Given the description of an element on the screen output the (x, y) to click on. 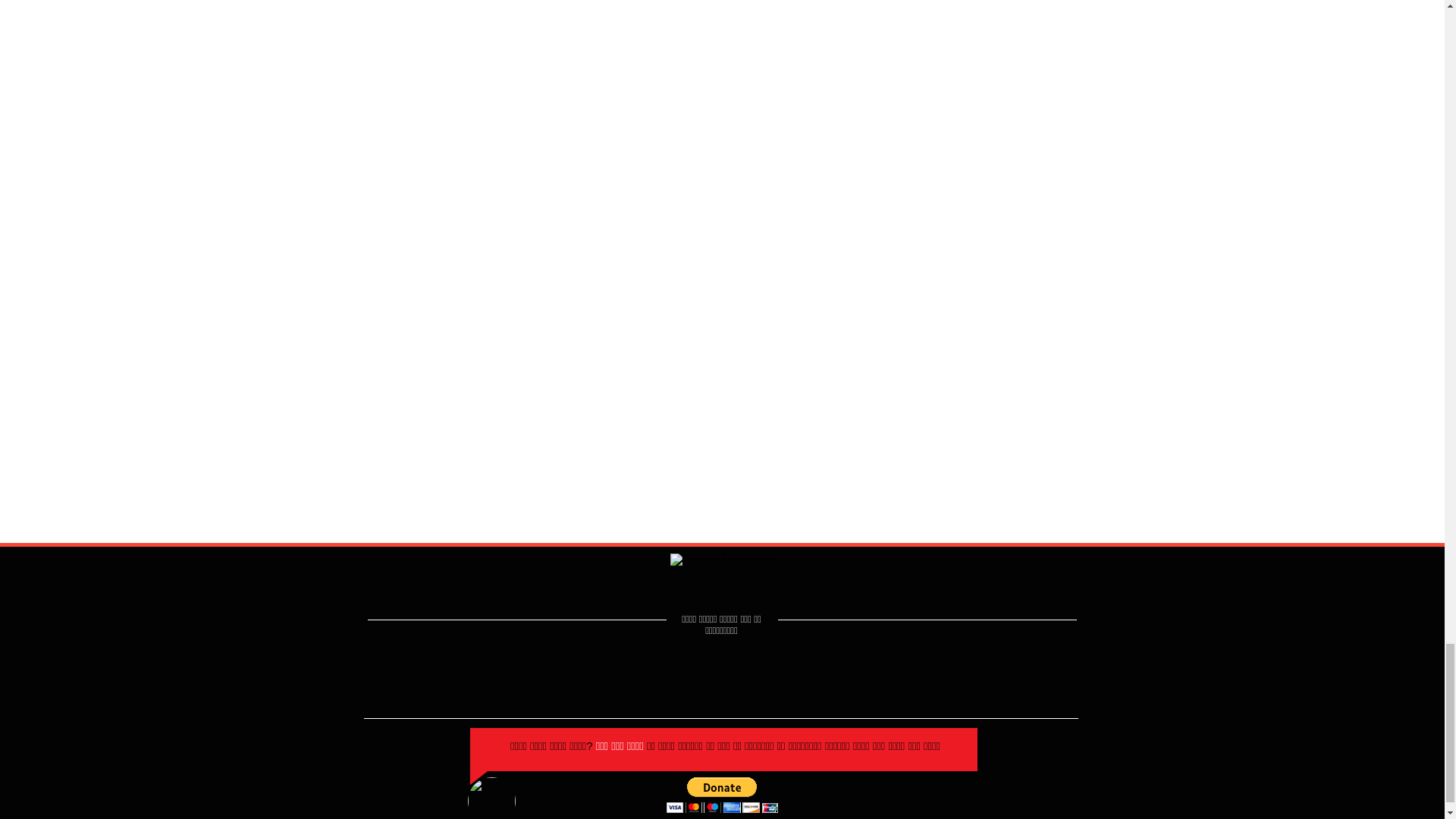
Soccer Player (491, 798)
